Given the description of an element on the screen output the (x, y) to click on. 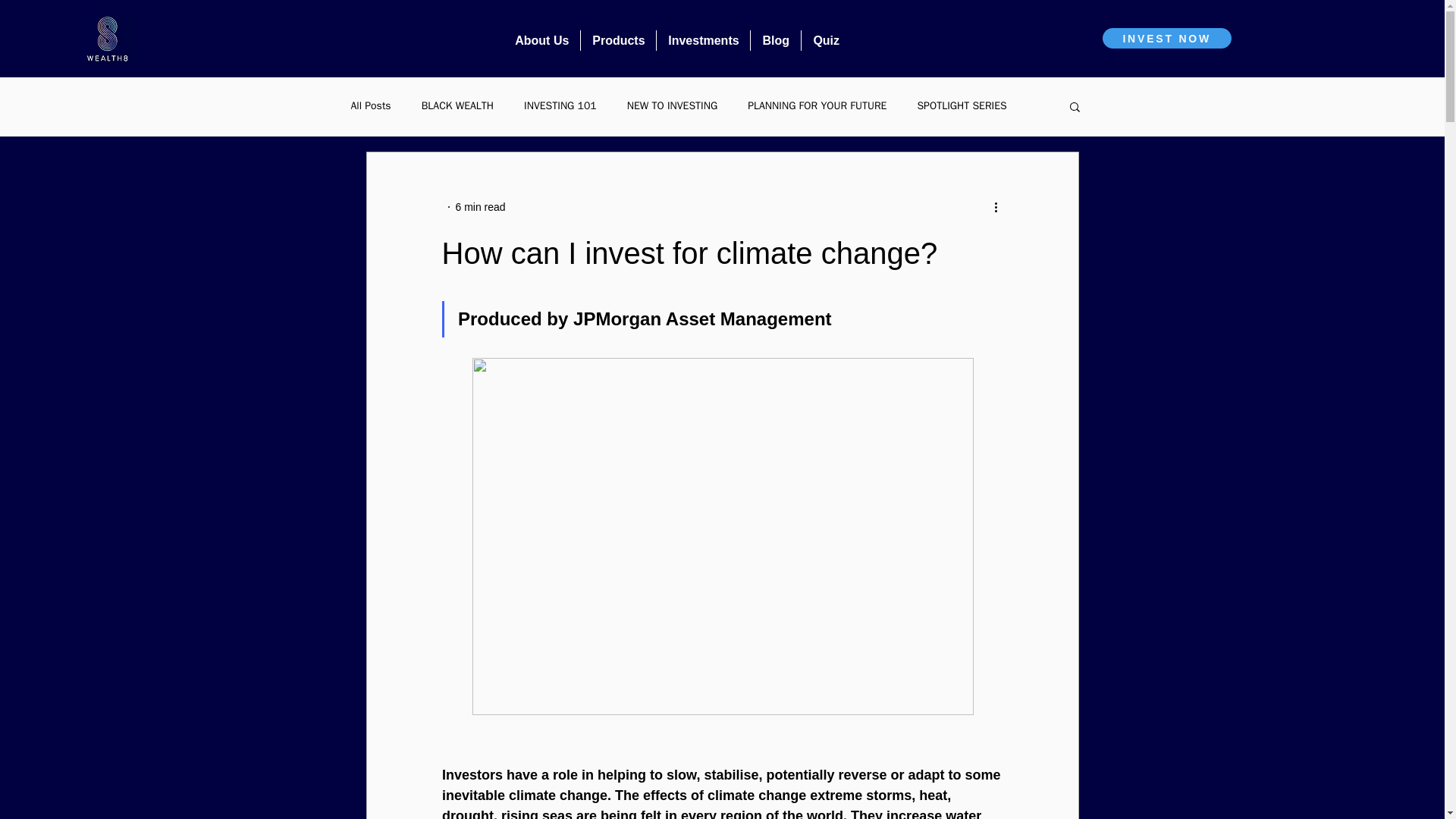
INVEST NOW (1166, 37)
Products (618, 40)
Quiz (826, 40)
INVESTING 101 (560, 106)
6 min read (479, 205)
SPOTLIGHT SERIES (961, 106)
PLANNING FOR YOUR FUTURE (817, 106)
All Posts (370, 106)
BLACK WEALTH (457, 106)
drought (467, 813)
